Given the description of an element on the screen output the (x, y) to click on. 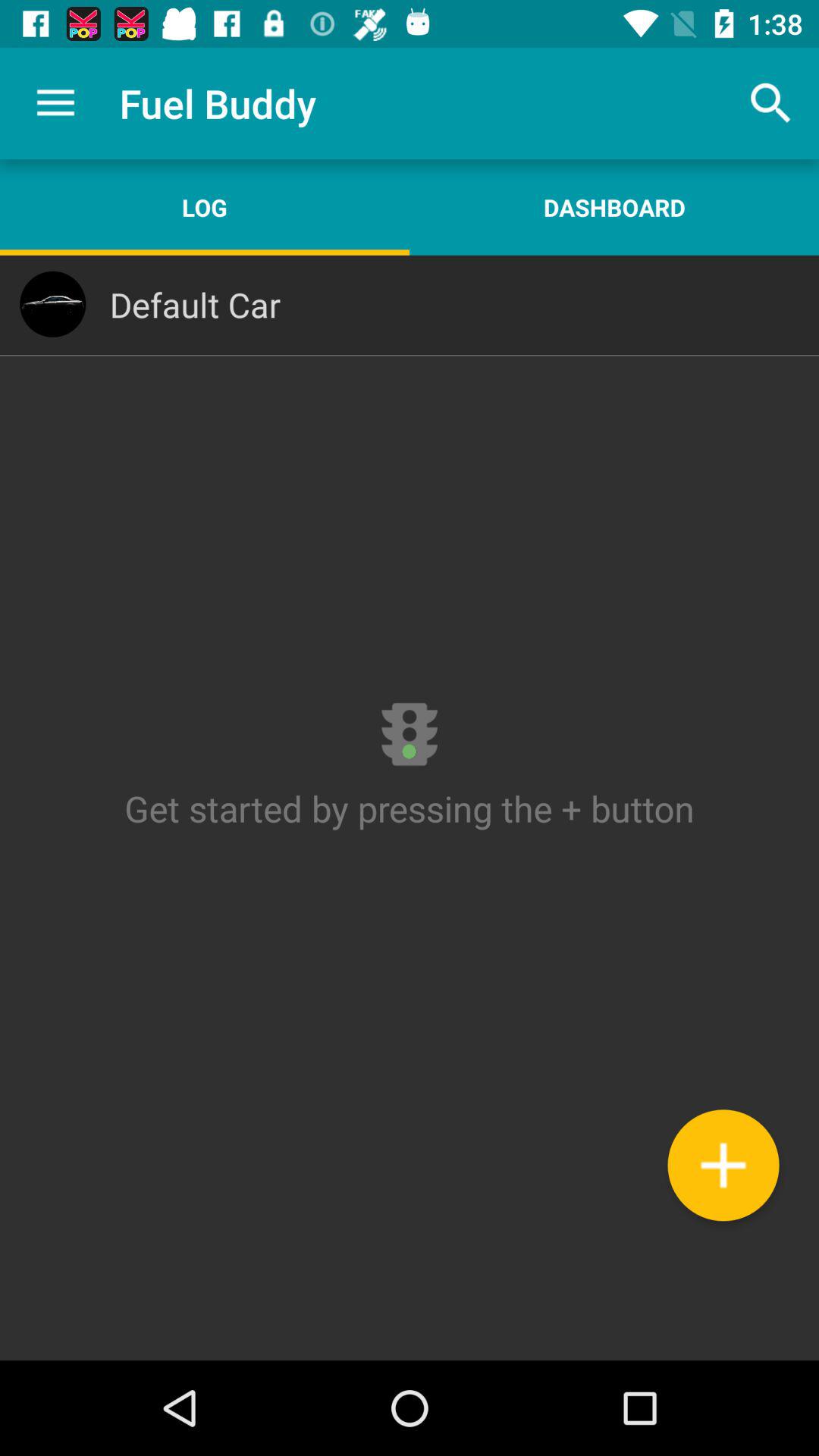
tap the app to the left of dashboard item (204, 207)
